Given the description of an element on the screen output the (x, y) to click on. 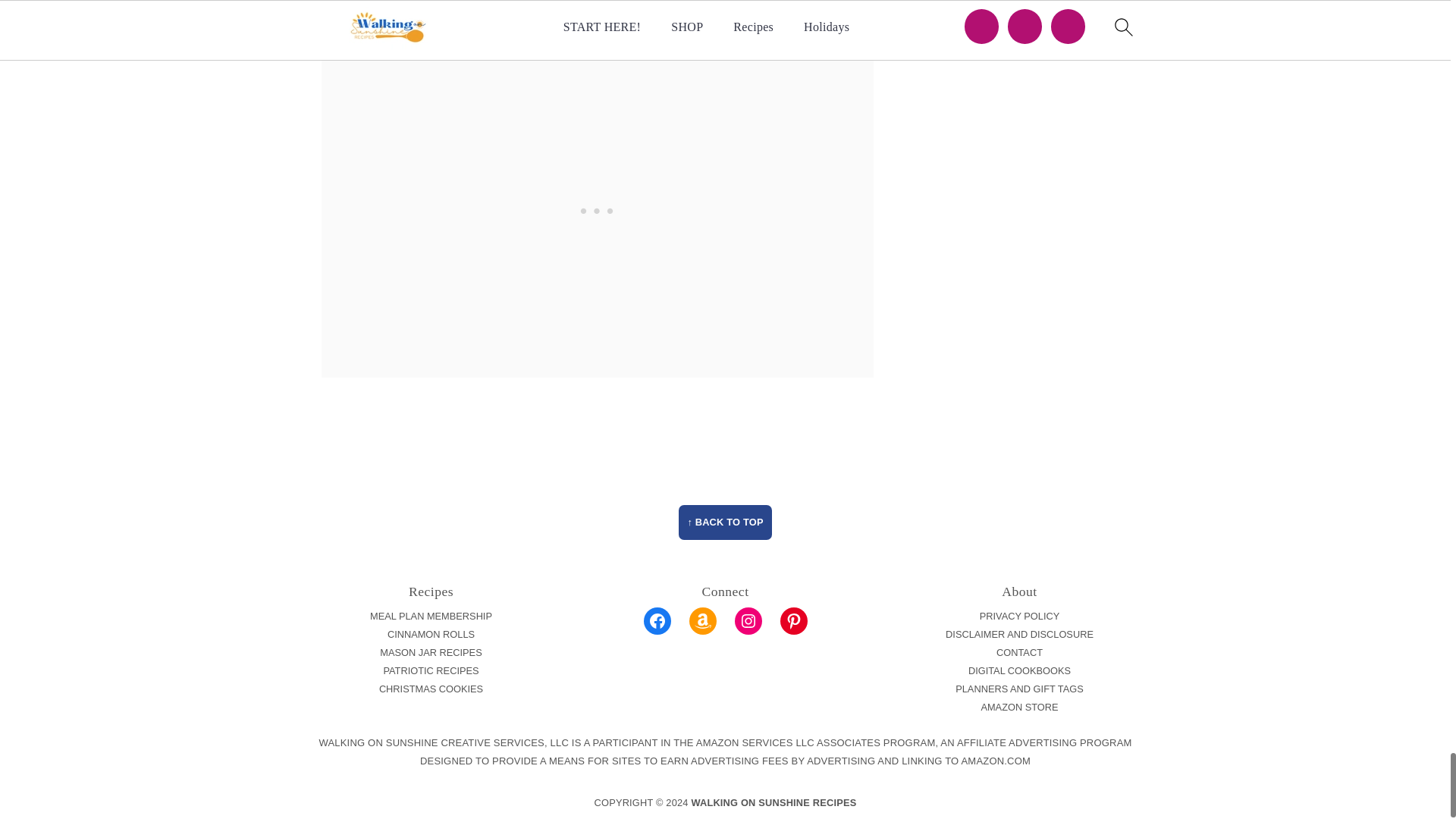
Picnic Plate Napkin and Flatware (493, 6)
